Given the description of an element on the screen output the (x, y) to click on. 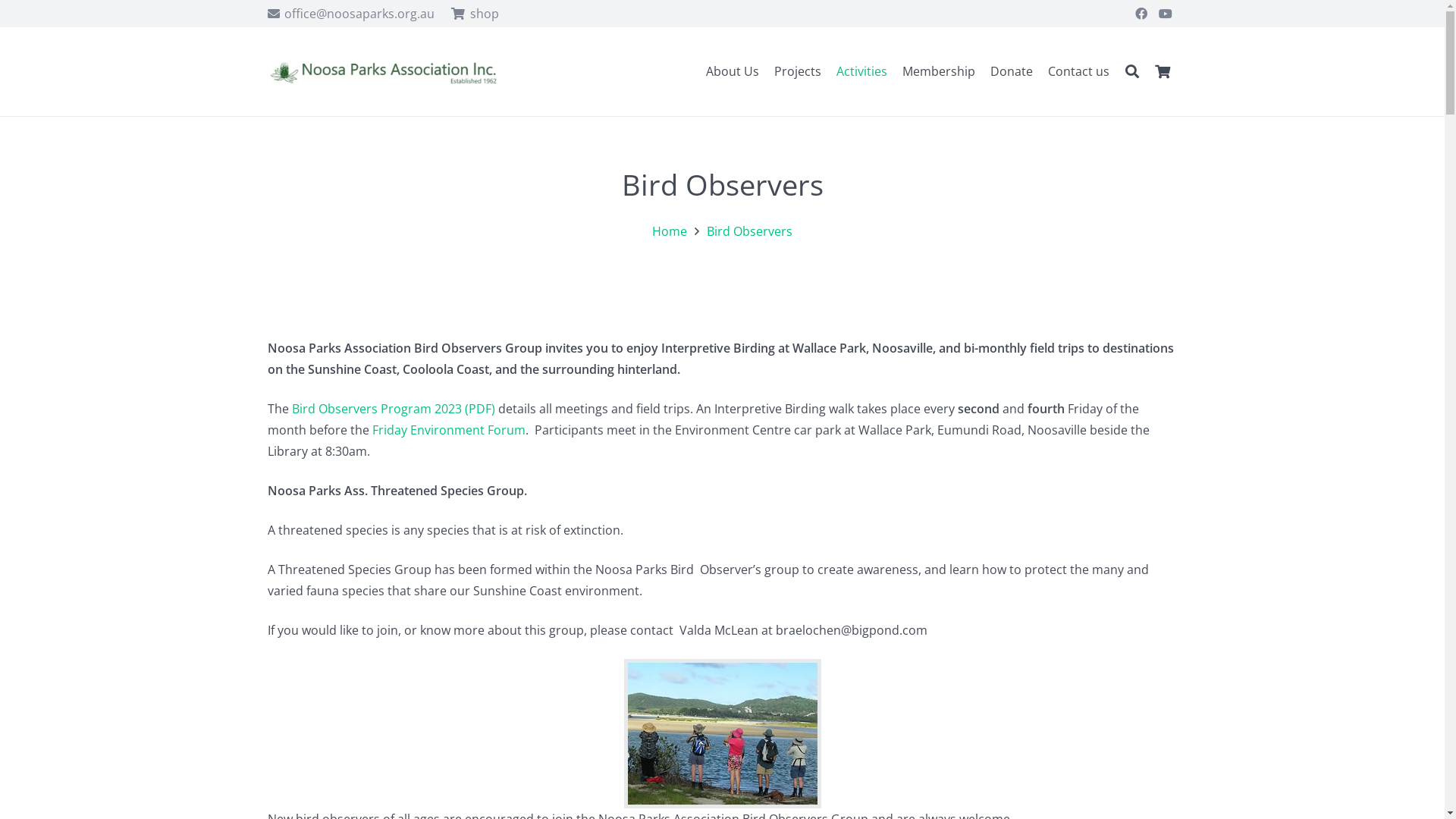
Home Element type: text (669, 230)
shop Element type: text (474, 13)
Projects Element type: text (797, 71)
YouTube Element type: hover (1165, 13)
Facebook Element type: hover (1141, 13)
Donate Element type: text (1011, 71)
About Us Element type: text (732, 71)
office@noosaparks.org.au Element type: text (349, 13)
Friday Environment Forum Element type: text (447, 429)
0 Element type: text (1162, 71)
Contact us Element type: text (1078, 71)
Bird Observers Program 2023 (PDF) Element type: text (392, 408)
Activities Element type: text (861, 71)
Membership Element type: text (938, 71)
Bird Observers Element type: text (749, 230)
